Given the description of an element on the screen output the (x, y) to click on. 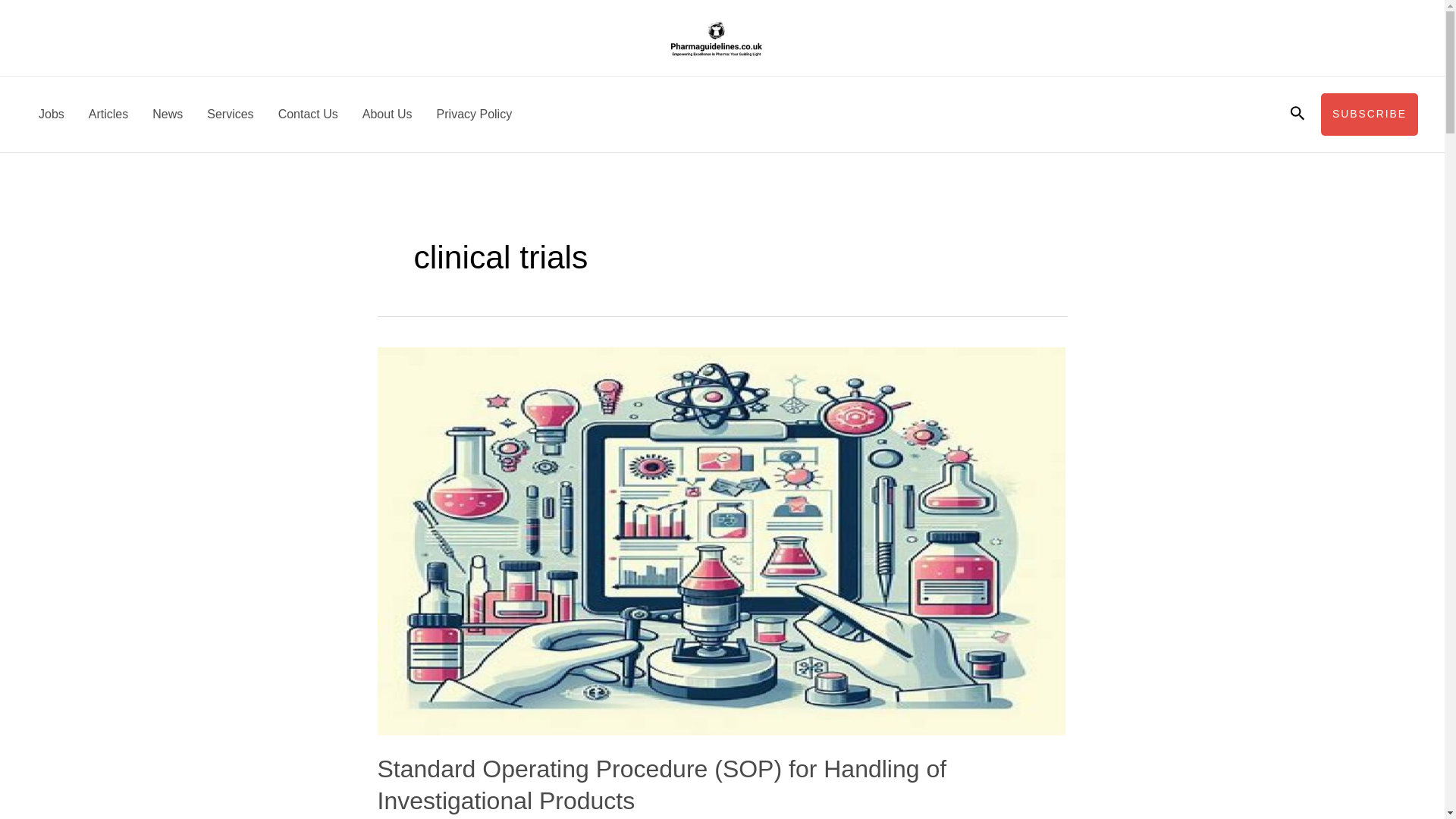
Privacy Policy (474, 114)
Contact Us (308, 114)
Services (229, 114)
SUBSCRIBE (1369, 114)
About Us (387, 114)
